Given the description of an element on the screen output the (x, y) to click on. 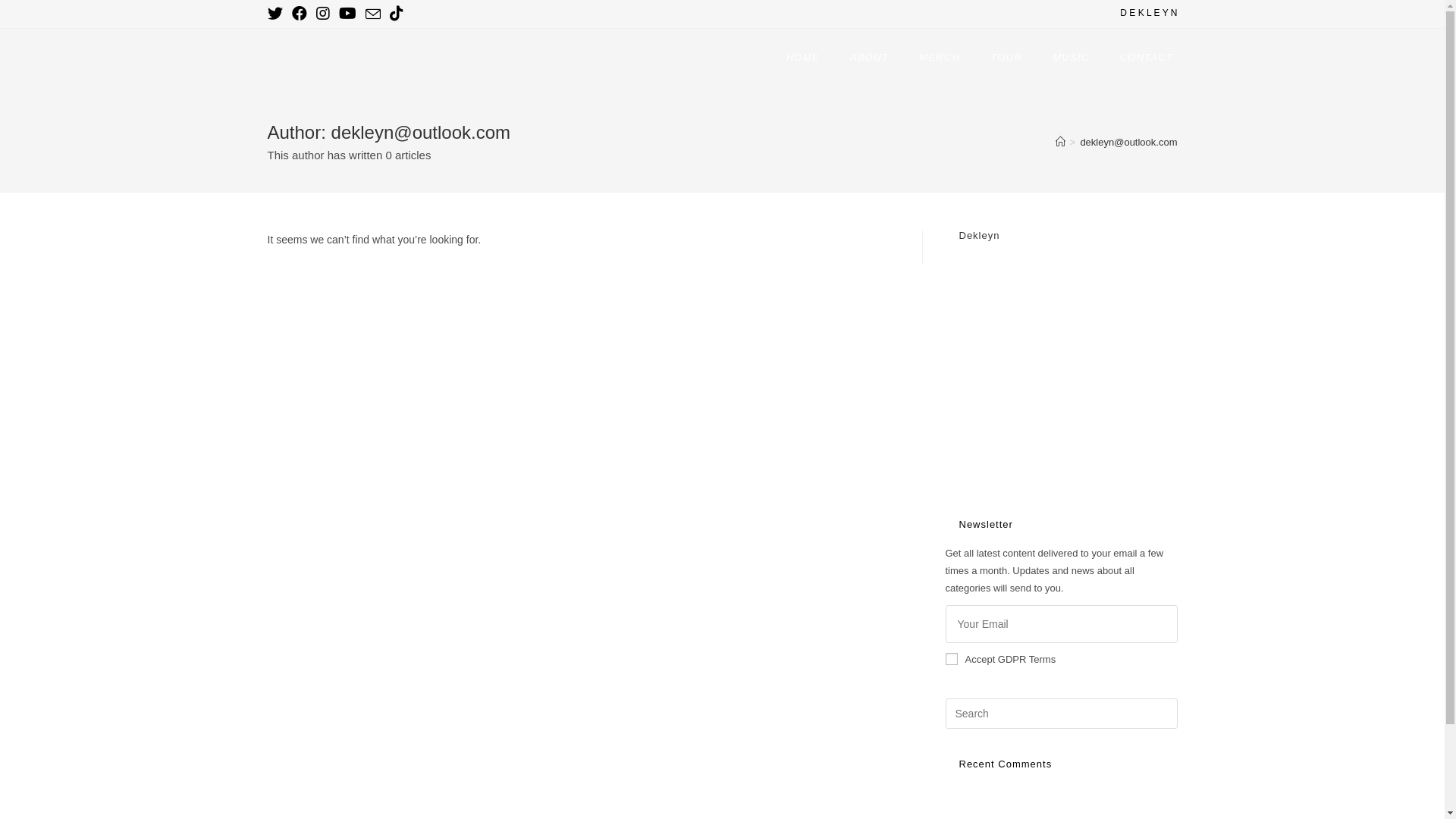
HOME Element type: text (802, 56)
dekleyn@outlook.com Element type: text (1127, 141)
ABOUT Element type: text (868, 56)
TOUR Element type: text (1006, 56)
MERCH Element type: text (939, 56)
DEKLEYN Element type: text (316, 56)
CONTACT Element type: text (1146, 56)
GO Element type: text (1145, 623)
MUSIC Element type: text (1070, 56)
Dekleyn Element type: text (978, 235)
